Given the description of an element on the screen output the (x, y) to click on. 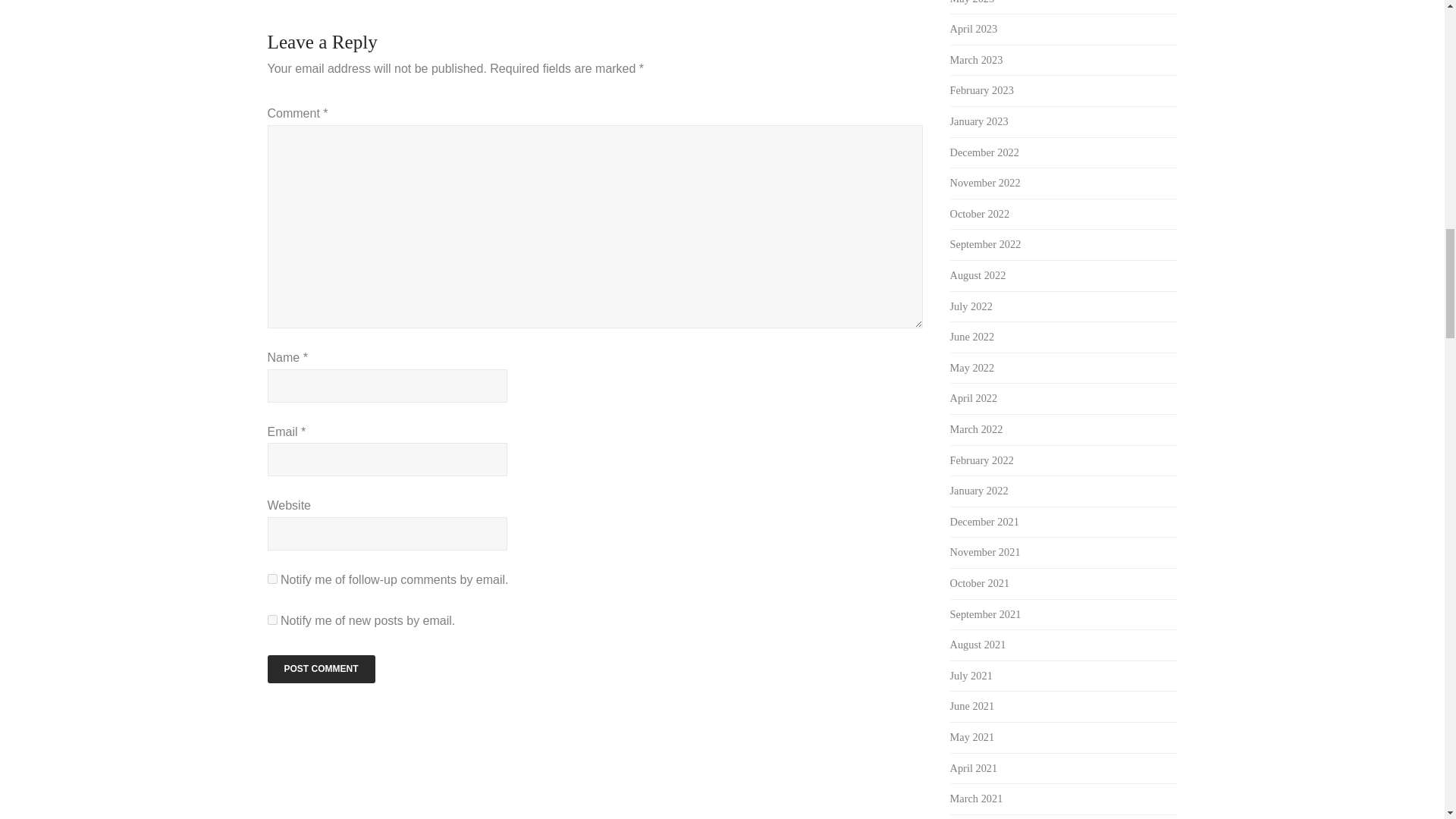
subscribe (271, 578)
subscribe (271, 619)
Post Comment (320, 669)
Post Comment (320, 669)
